Given the description of an element on the screen output the (x, y) to click on. 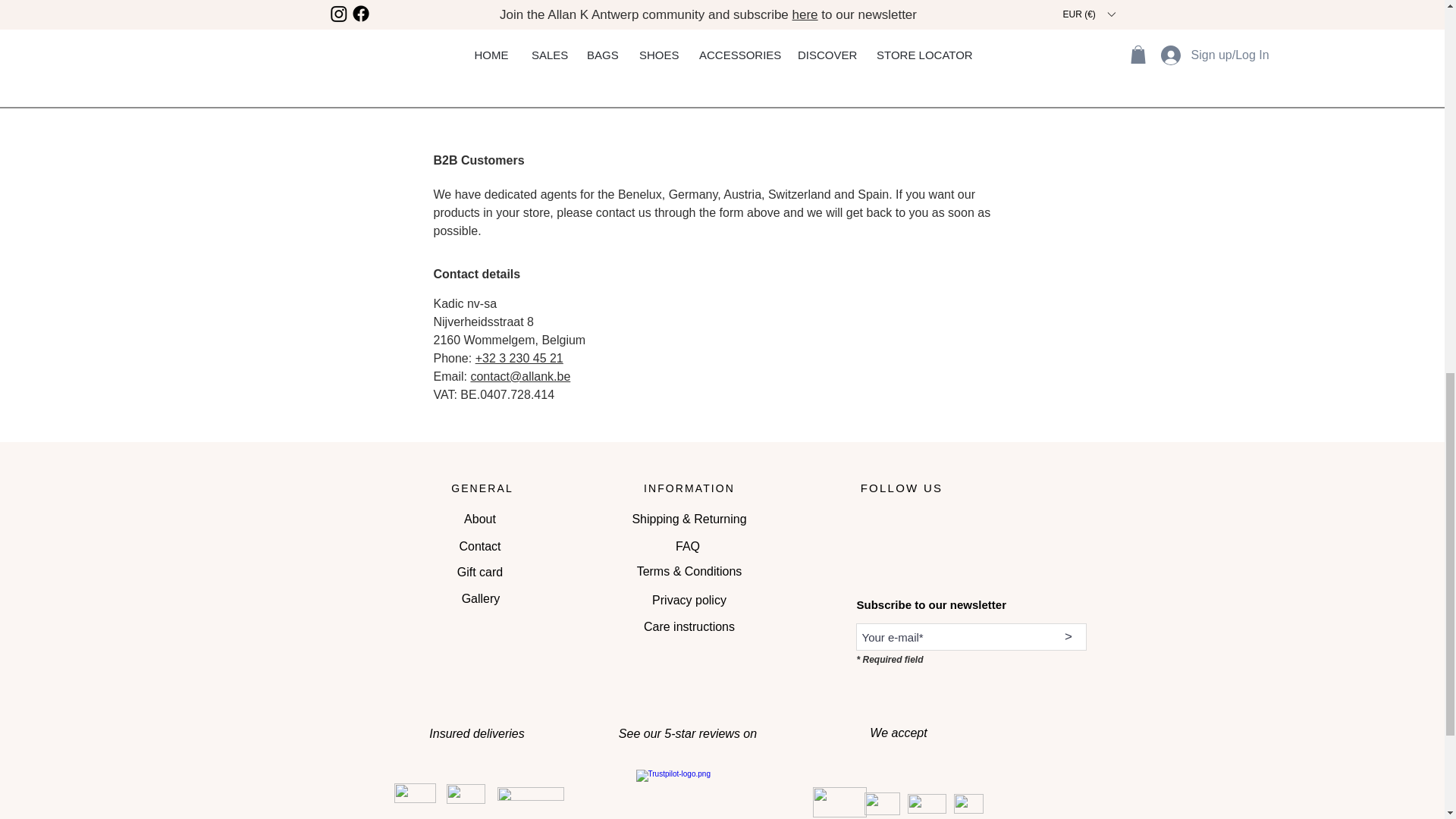
View privacy policy (699, 70)
Submit (940, 54)
Gift card (479, 572)
About (479, 519)
Privacy policy (690, 600)
FAQ (687, 546)
Contact (479, 546)
Care instructions (689, 626)
Gallery (480, 598)
